Given the description of an element on the screen output the (x, y) to click on. 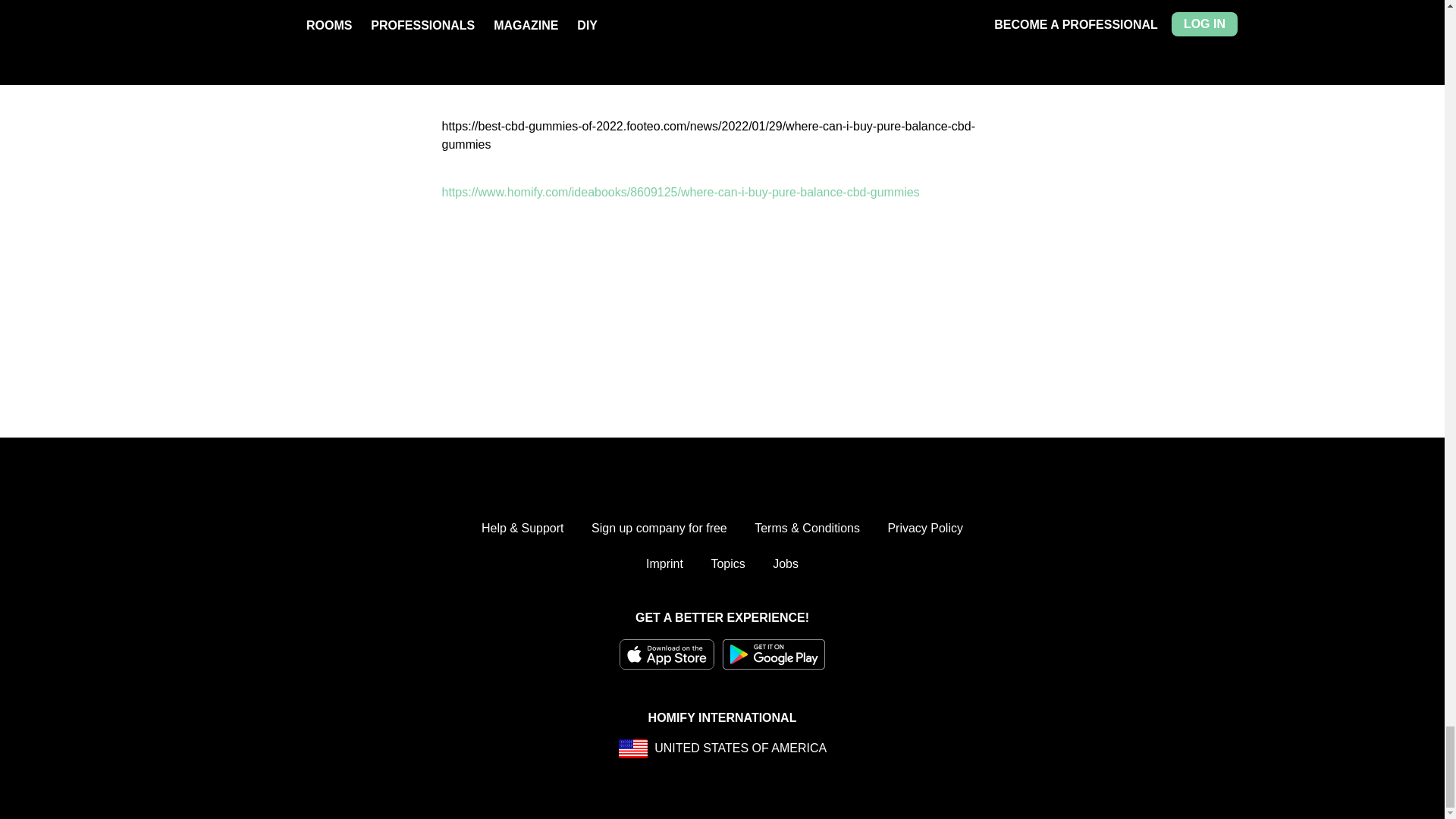
Sign up company for free (658, 528)
Topics (727, 564)
Imprint (664, 564)
Jobs (785, 564)
Privacy Policy (924, 528)
